Given the description of an element on the screen output the (x, y) to click on. 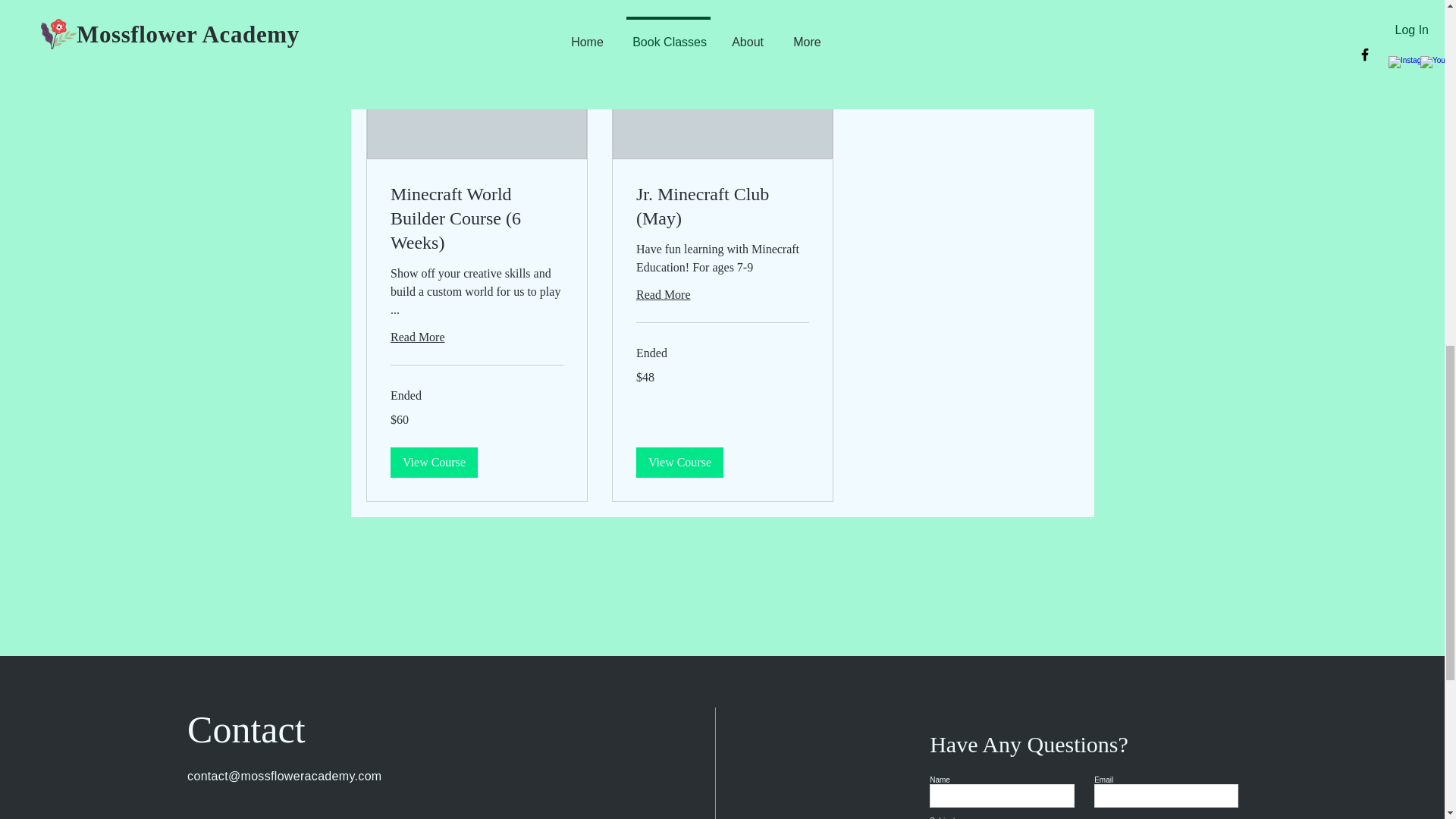
Read More (476, 337)
Read More (721, 294)
View Course (433, 462)
View Course (678, 462)
